Given the description of an element on the screen output the (x, y) to click on. 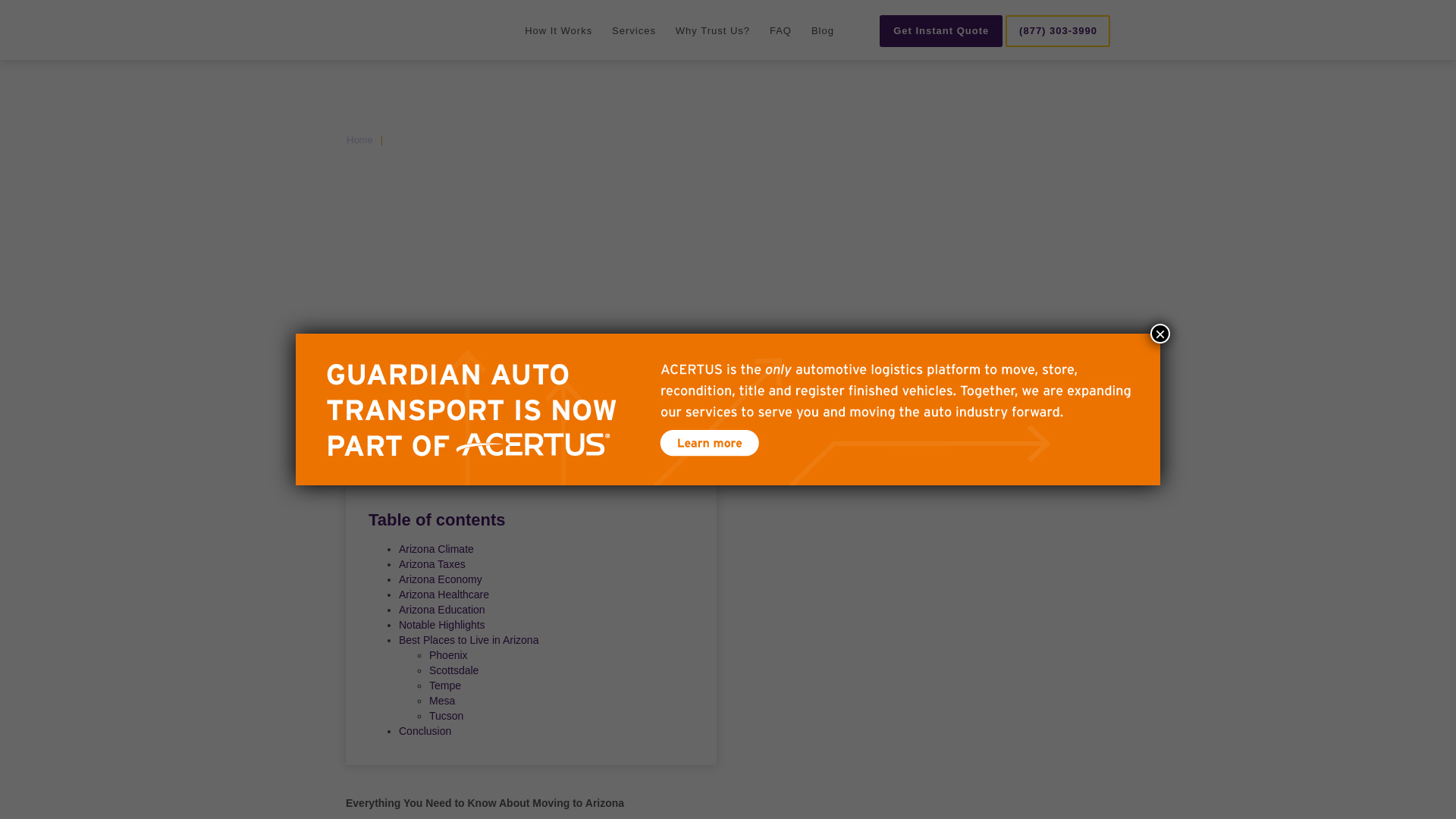
Why Trust Us? (712, 30)
Get Instant Quote (941, 30)
How It Works (558, 30)
Home (363, 26)
Go to Guardian Auto Transport. (359, 139)
